Given the description of an element on the screen output the (x, y) to click on. 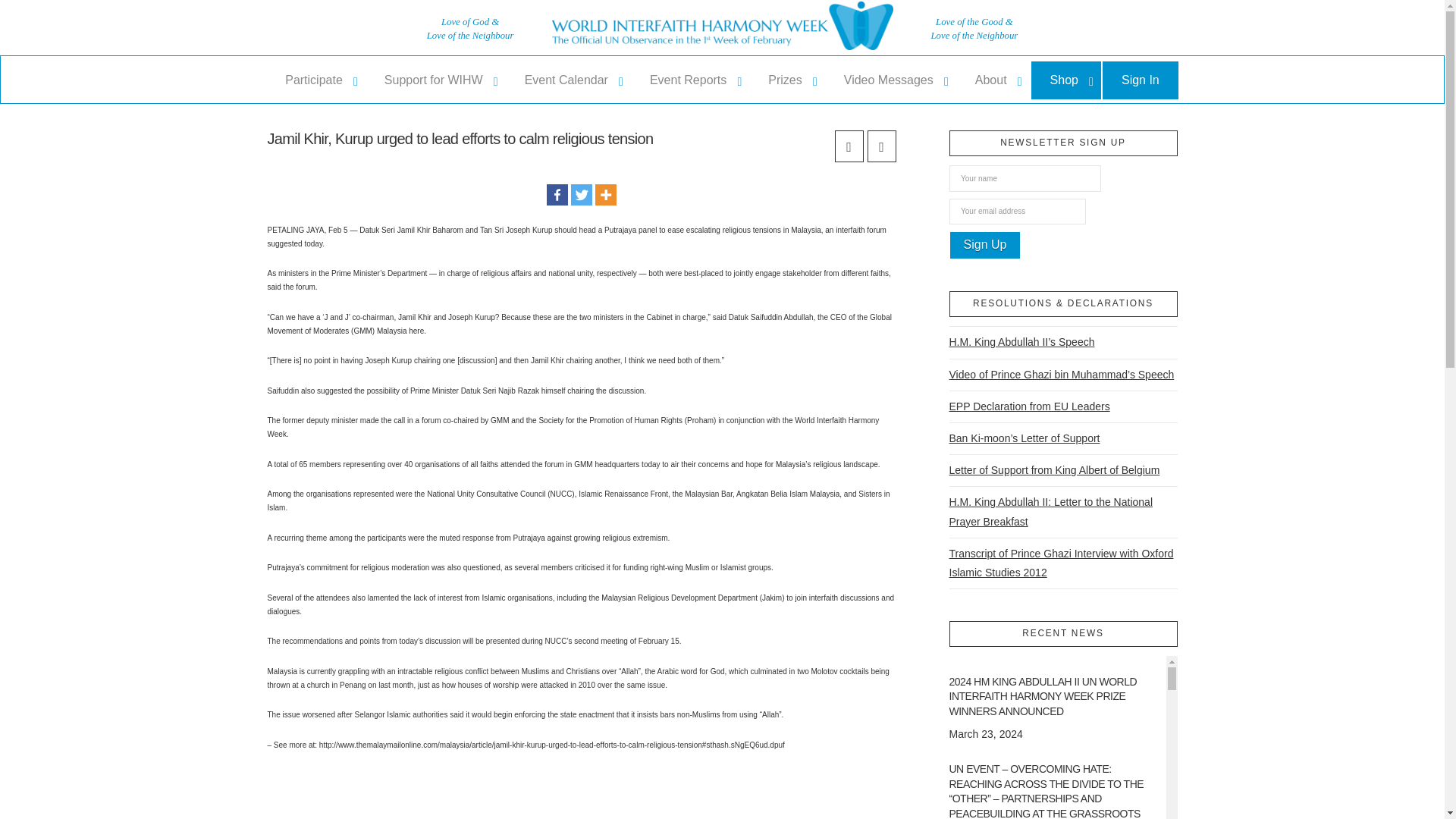
Support for WIHW (435, 80)
Sign Up (985, 244)
Facebook (557, 194)
Twitter (581, 194)
Event Reports (689, 80)
Participate (315, 80)
More (605, 194)
Prizes (786, 80)
Event Calendar (567, 80)
